Given the description of an element on the screen output the (x, y) to click on. 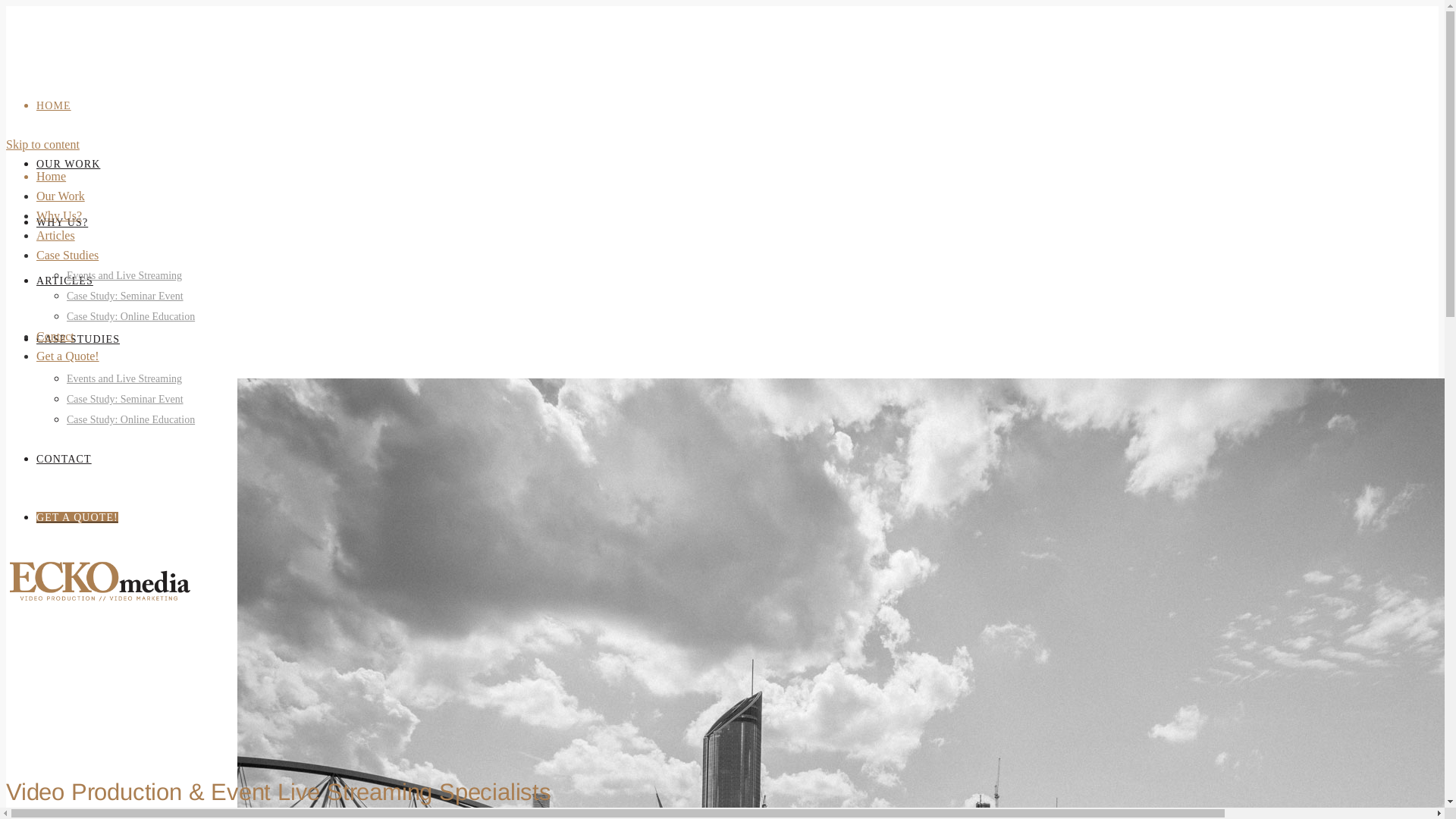
Events and Live Streaming Element type: text (124, 275)
Case Study: Online Education Element type: text (130, 419)
HOME Element type: text (53, 105)
Events and Live Streaming Element type: text (124, 378)
Case Study: Seminar Event Element type: text (124, 295)
WHY US? Element type: text (61, 222)
Our Work Element type: text (60, 195)
Why Us? Element type: text (58, 215)
GET A QUOTE! Element type: text (77, 517)
ARTICLES Element type: text (64, 280)
Articles Element type: text (55, 235)
OUR WORK Element type: text (68, 163)
Home Element type: text (50, 175)
Case Studies Element type: text (67, 254)
Get a Quote! Element type: text (67, 355)
CONTACT Element type: text (63, 458)
CASE STUDIES Element type: text (77, 339)
Skip to content Element type: text (42, 144)
Case Study: Online Education Element type: text (130, 316)
Case Study: Seminar Event Element type: text (124, 398)
Contact Element type: text (55, 335)
